Given the description of an element on the screen output the (x, y) to click on. 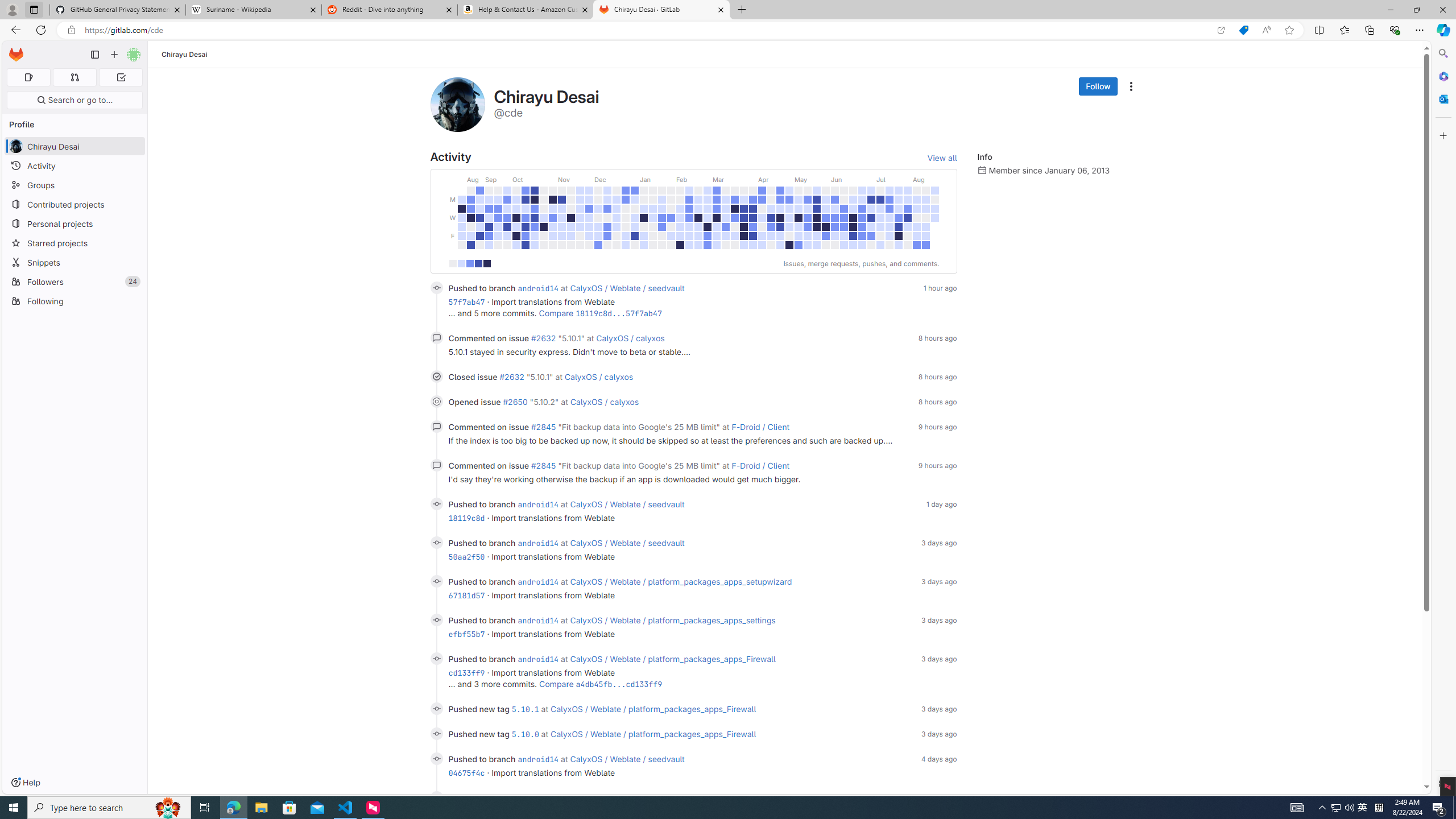
... and 3 more commits. Compare a4db45fb...cd133ff9 (702, 683)
